Given the description of an element on the screen output the (x, y) to click on. 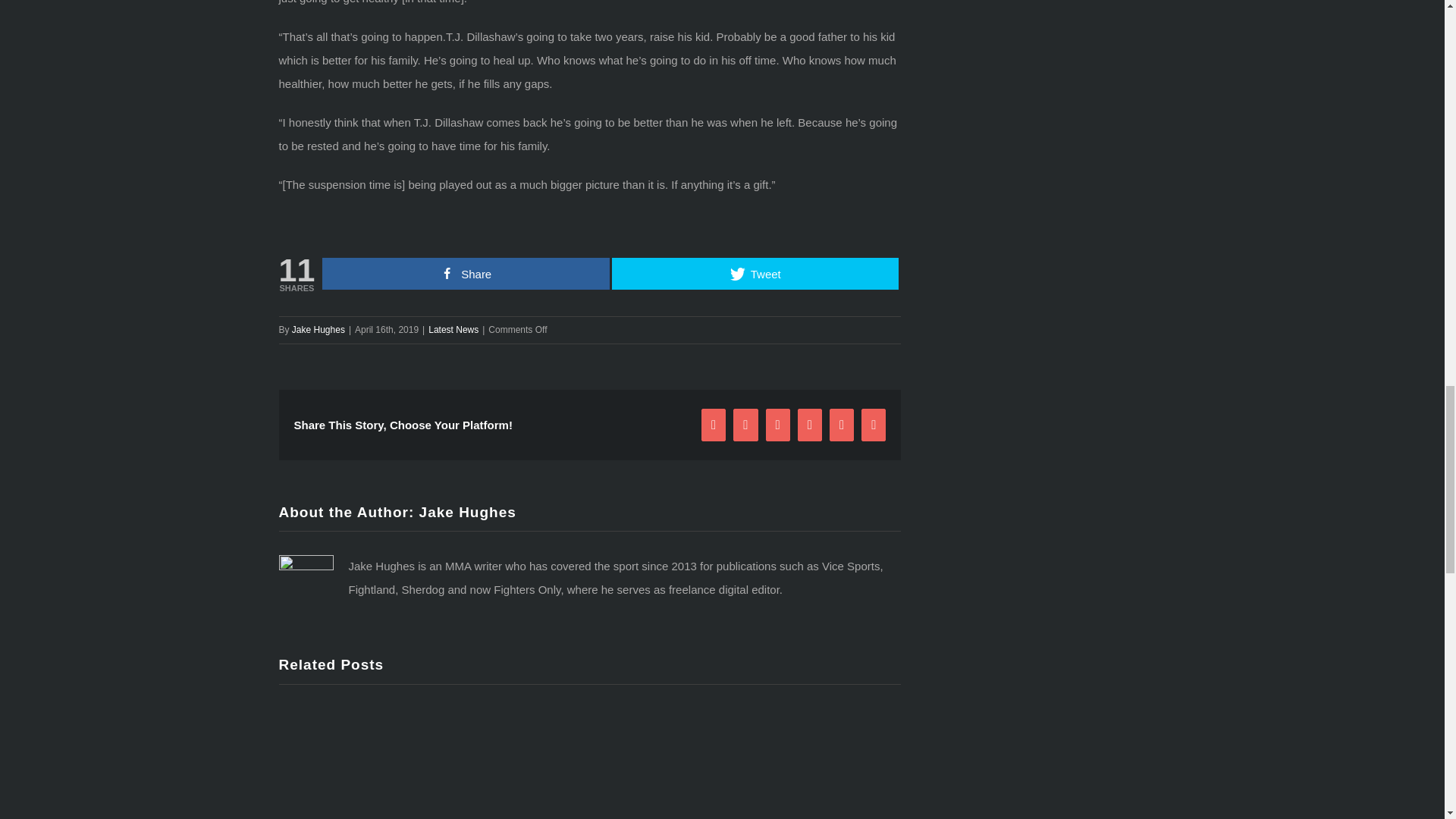
Jake Hughes (318, 329)
Tweet (755, 273)
Posts by Jake Hughes (318, 329)
Jake Hughes (467, 512)
Latest News (453, 329)
Share (465, 273)
Posts by Jake Hughes (467, 512)
